Given the description of an element on the screen output the (x, y) to click on. 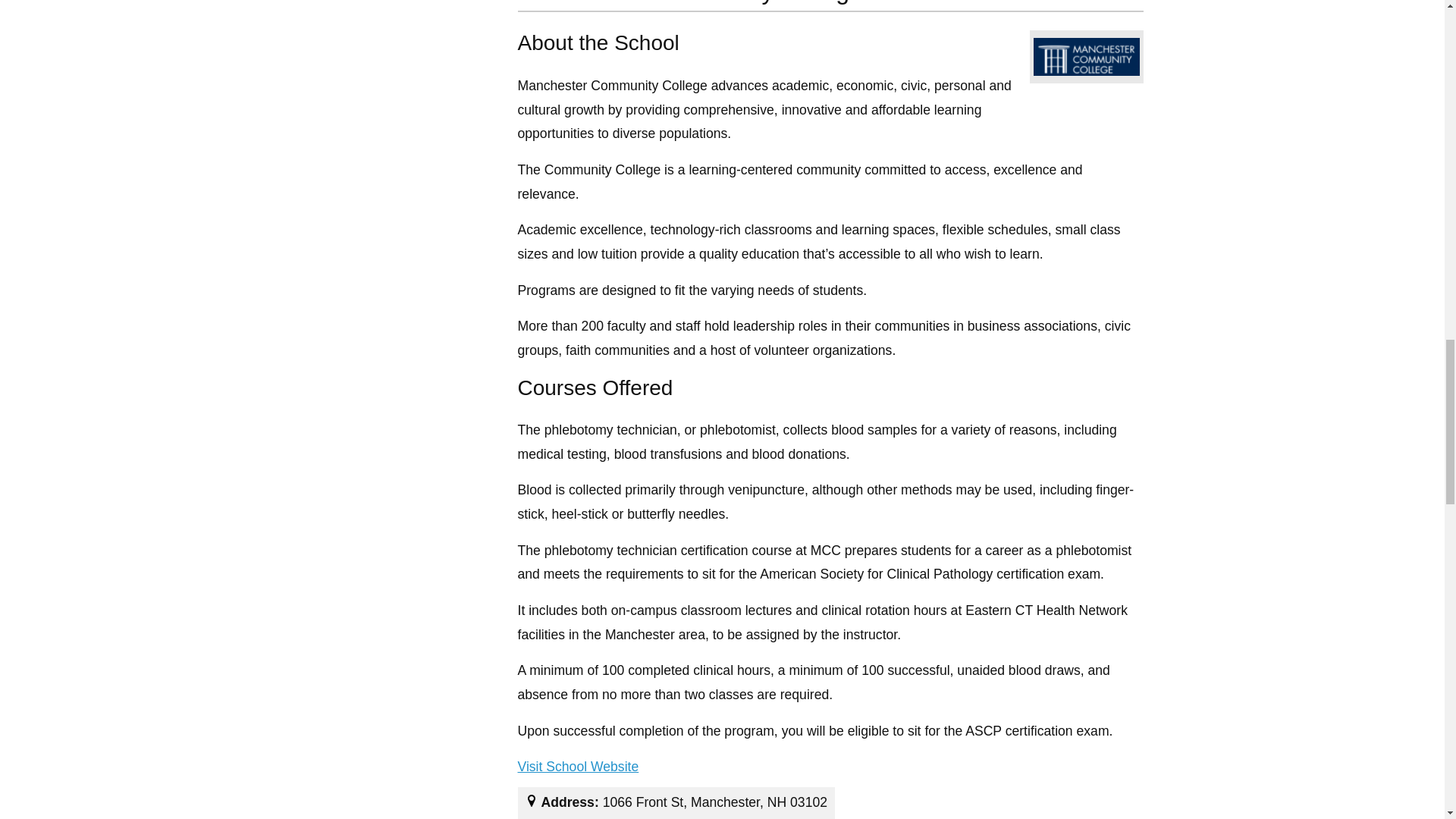
Visit School Website (577, 767)
